Given the description of an element on the screen output the (x, y) to click on. 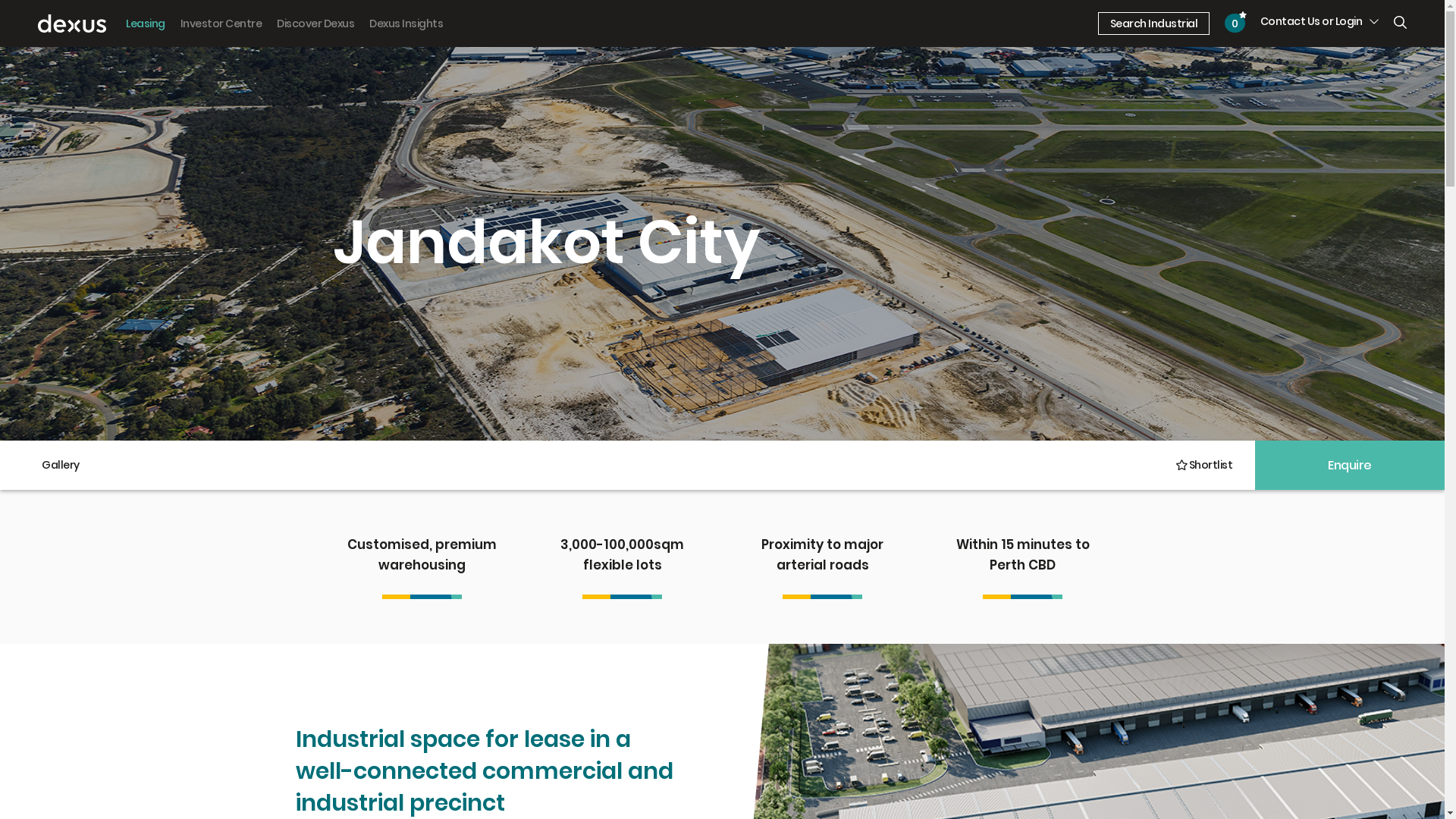
Dexus Insights Element type: text (405, 23)
0 Element type: text (1234, 22)
Investor Centre Element type: text (220, 23)
Search Industrial Element type: text (1153, 23)
Contact Us or Login Element type: text (1319, 21)
Shortlist Element type: text (1202, 464)
Enquire Element type: text (1349, 464)
Gallery Element type: text (60, 464)
Discover Dexus Element type: text (315, 23)
Leasing Element type: text (145, 23)
